Given the description of an element on the screen output the (x, y) to click on. 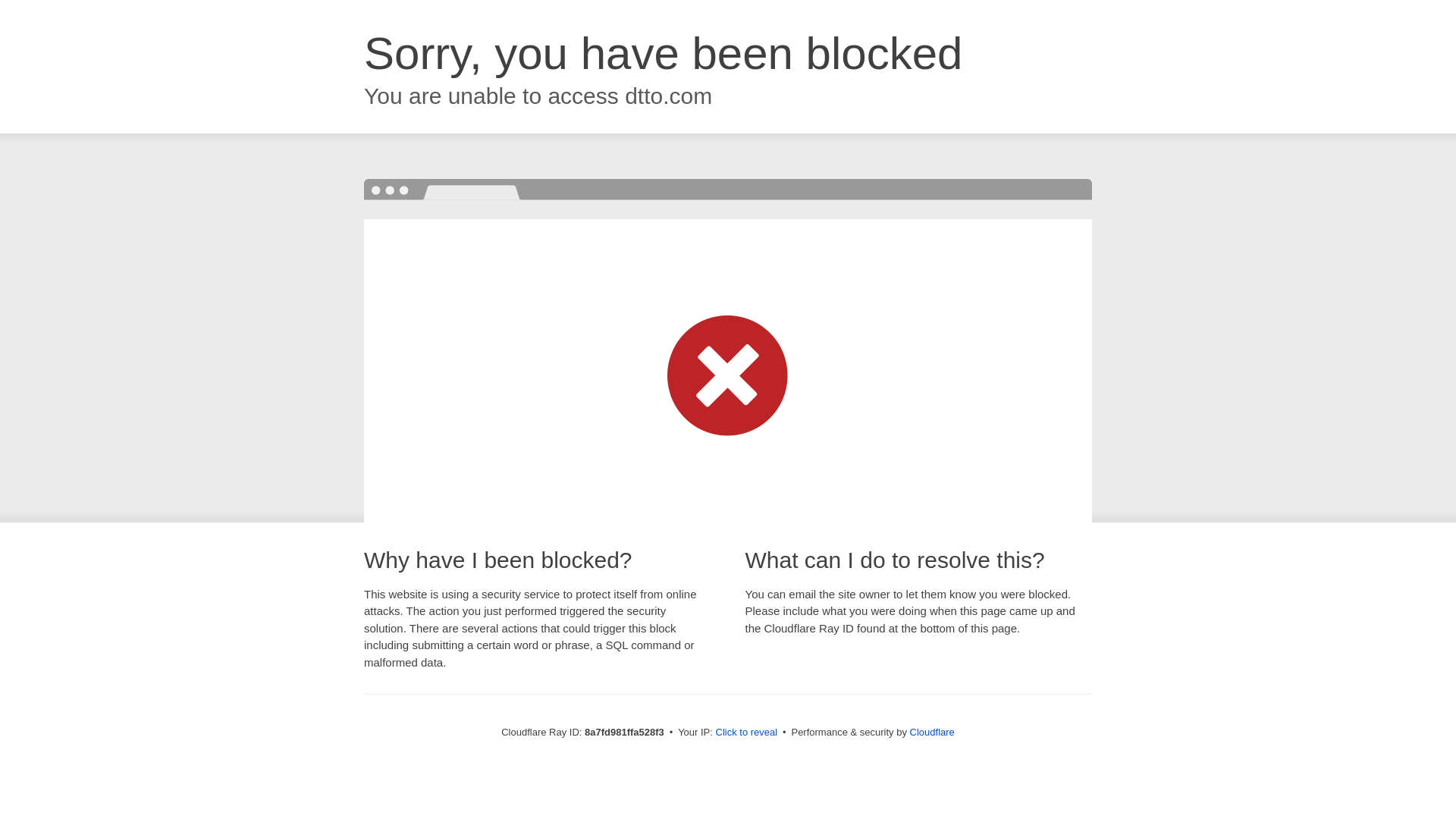
Cloudflare (932, 731)
Click to reveal (746, 732)
